Given the description of an element on the screen output the (x, y) to click on. 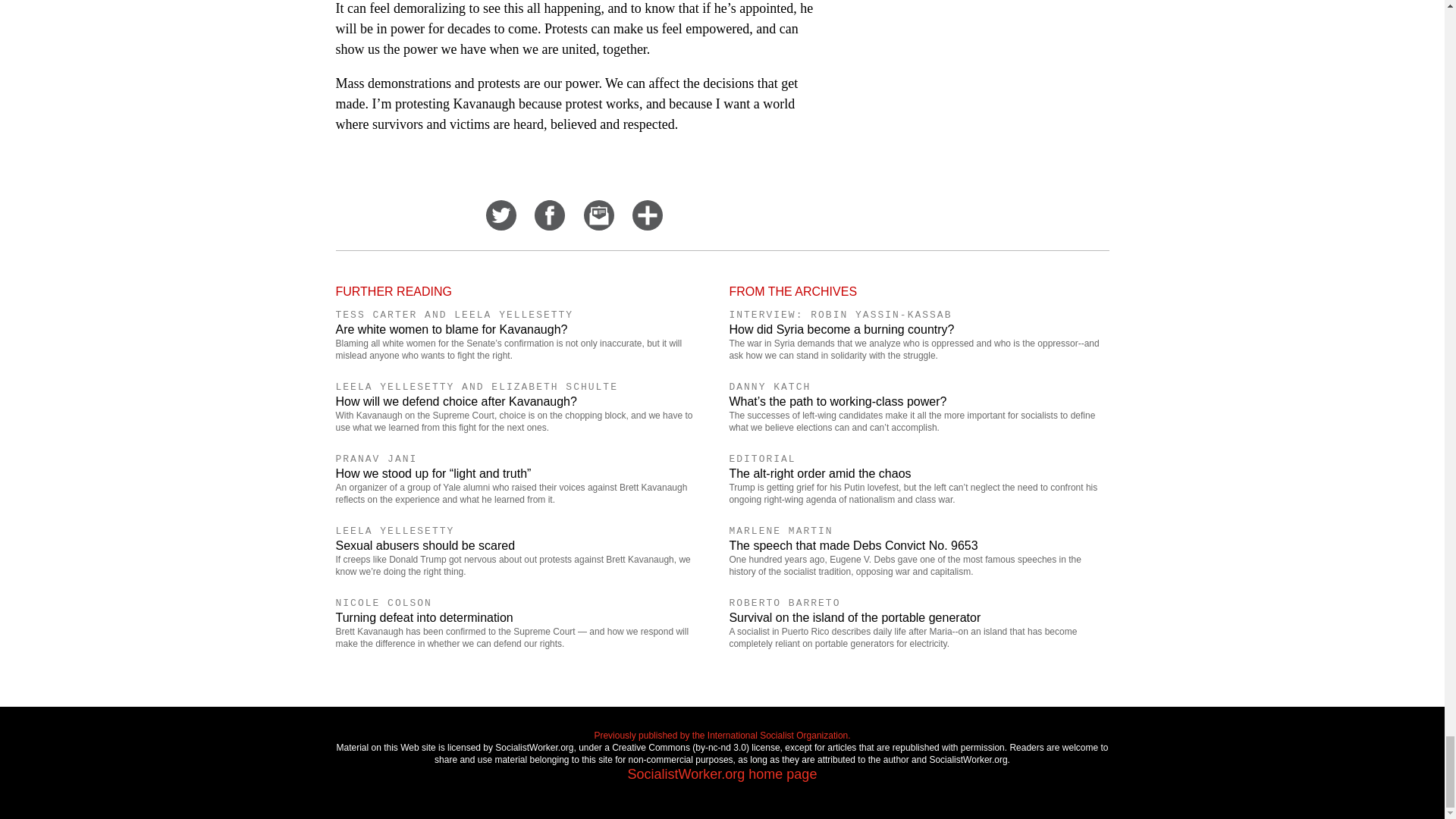
Share on Facebook (549, 225)
Click for more options (646, 225)
Share on Twitter (501, 225)
Email this story (598, 225)
